Given the description of an element on the screen output the (x, y) to click on. 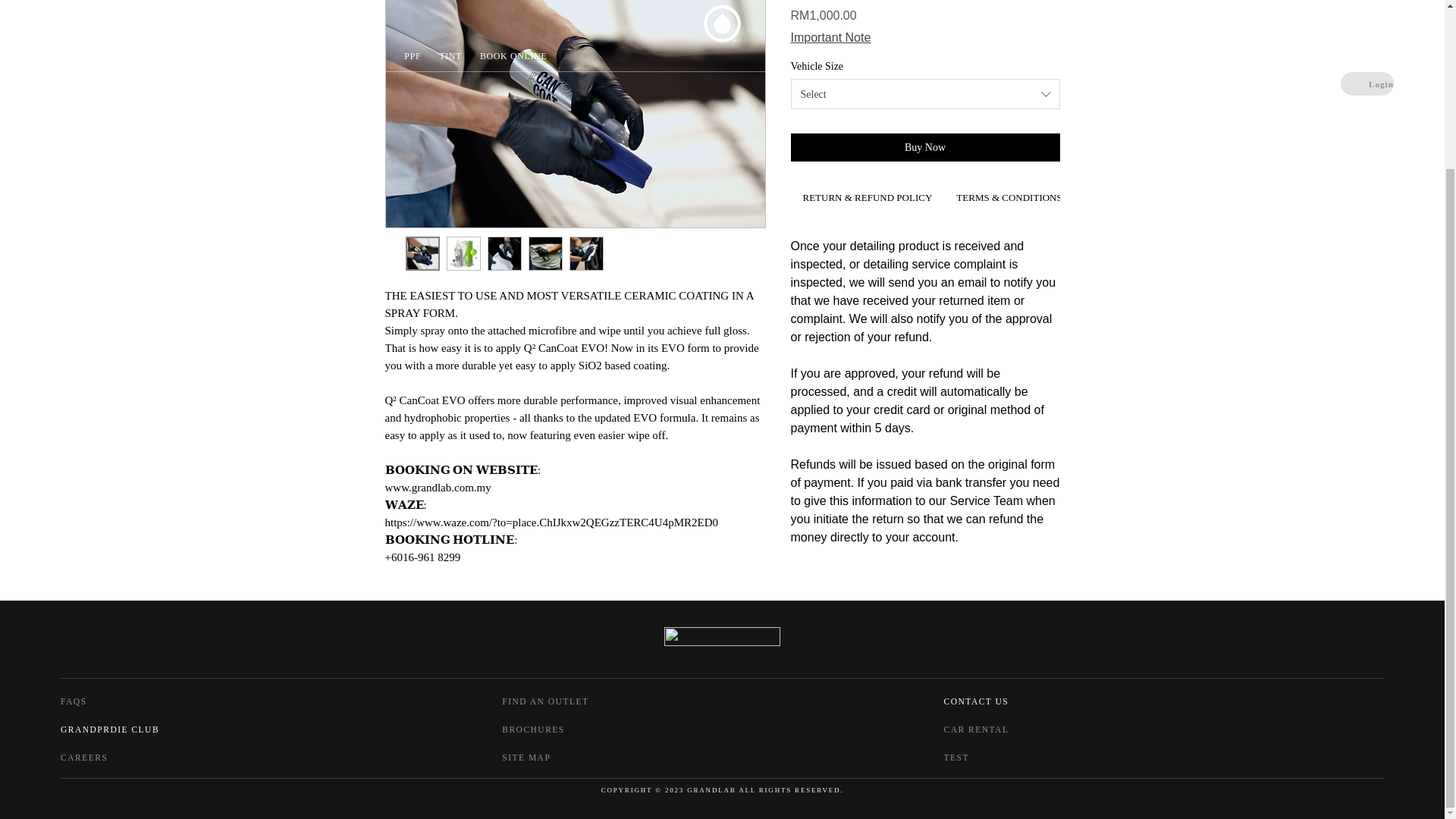
SITE MAP (550, 756)
FIND AN OUTLET (577, 700)
Buy Now (924, 147)
CONTACT US (1018, 700)
Important Note (830, 38)
CAREERS (109, 756)
CAR RENTAL (1018, 728)
FAQS (104, 700)
GRANDPRDIE CLUB (127, 728)
Use right and left arrows to navigate between tabs (1007, 198)
TEST (992, 756)
BROCHURES (577, 728)
Select (924, 93)
Use right and left arrows to navigate between tabs (867, 198)
